Given the description of an element on the screen output the (x, y) to click on. 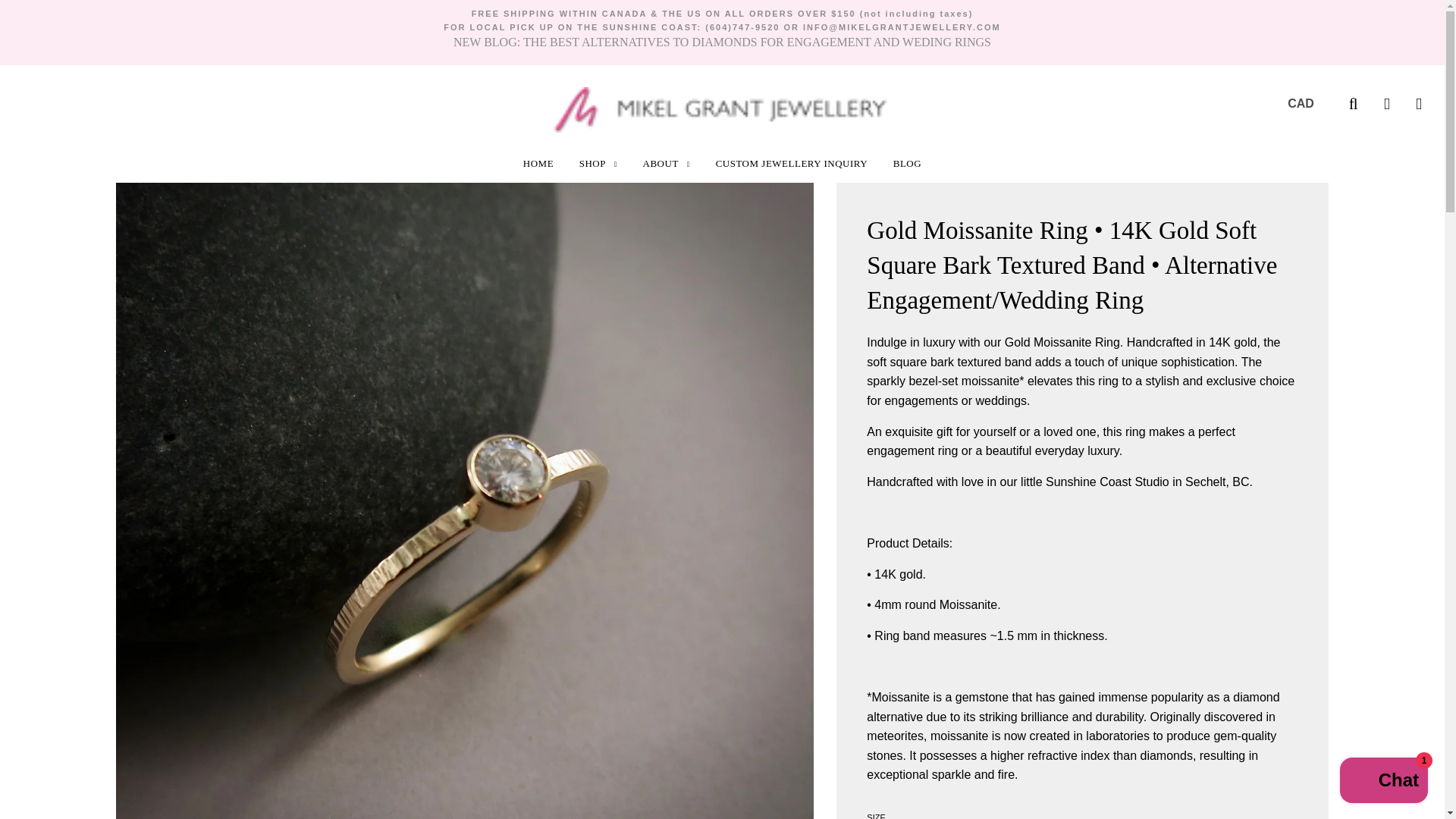
Shopify online store chat (1383, 781)
